Given the description of an element on the screen output the (x, y) to click on. 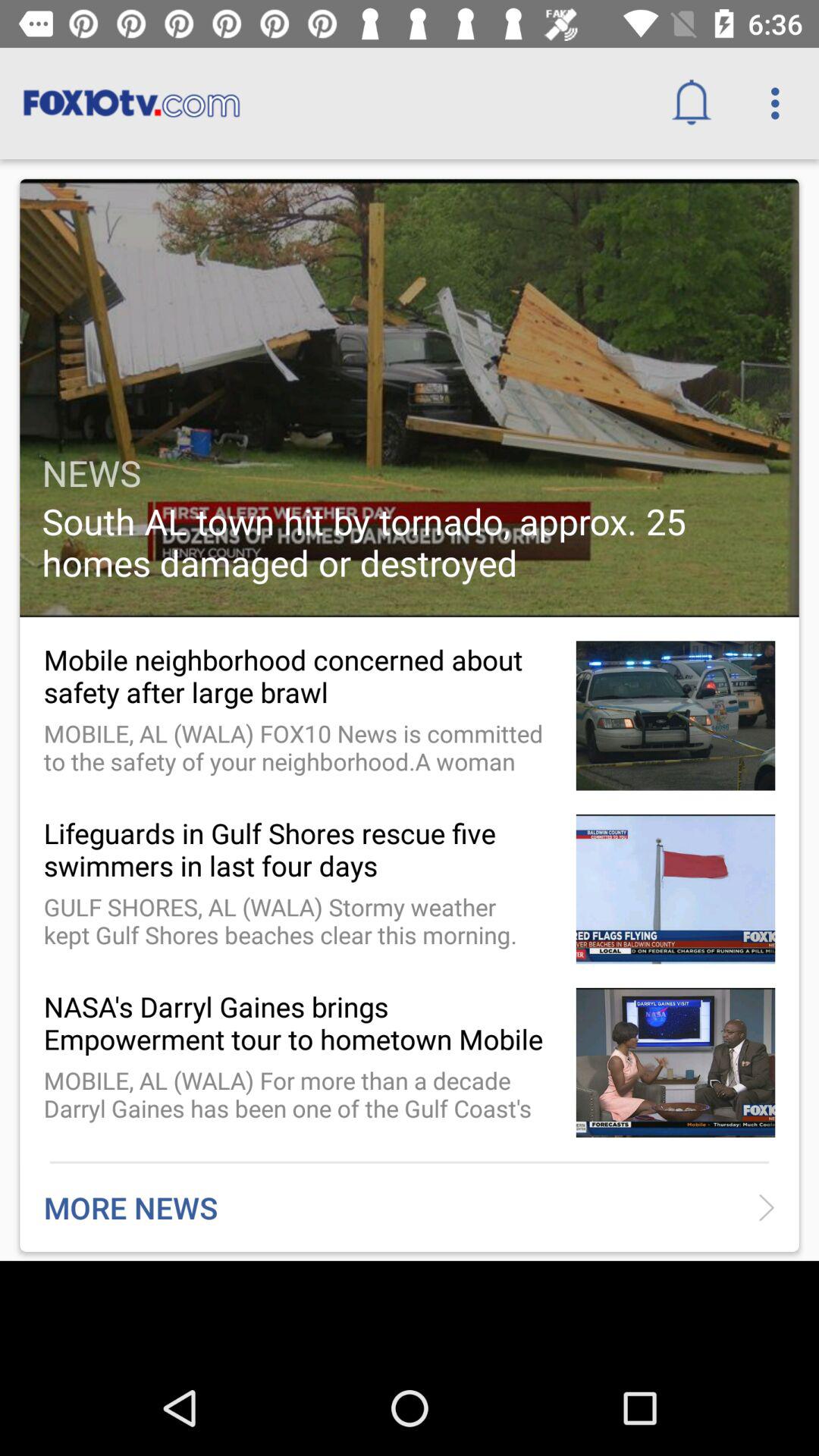
select the third image on the web page (675, 888)
